Given the description of an element on the screen output the (x, y) to click on. 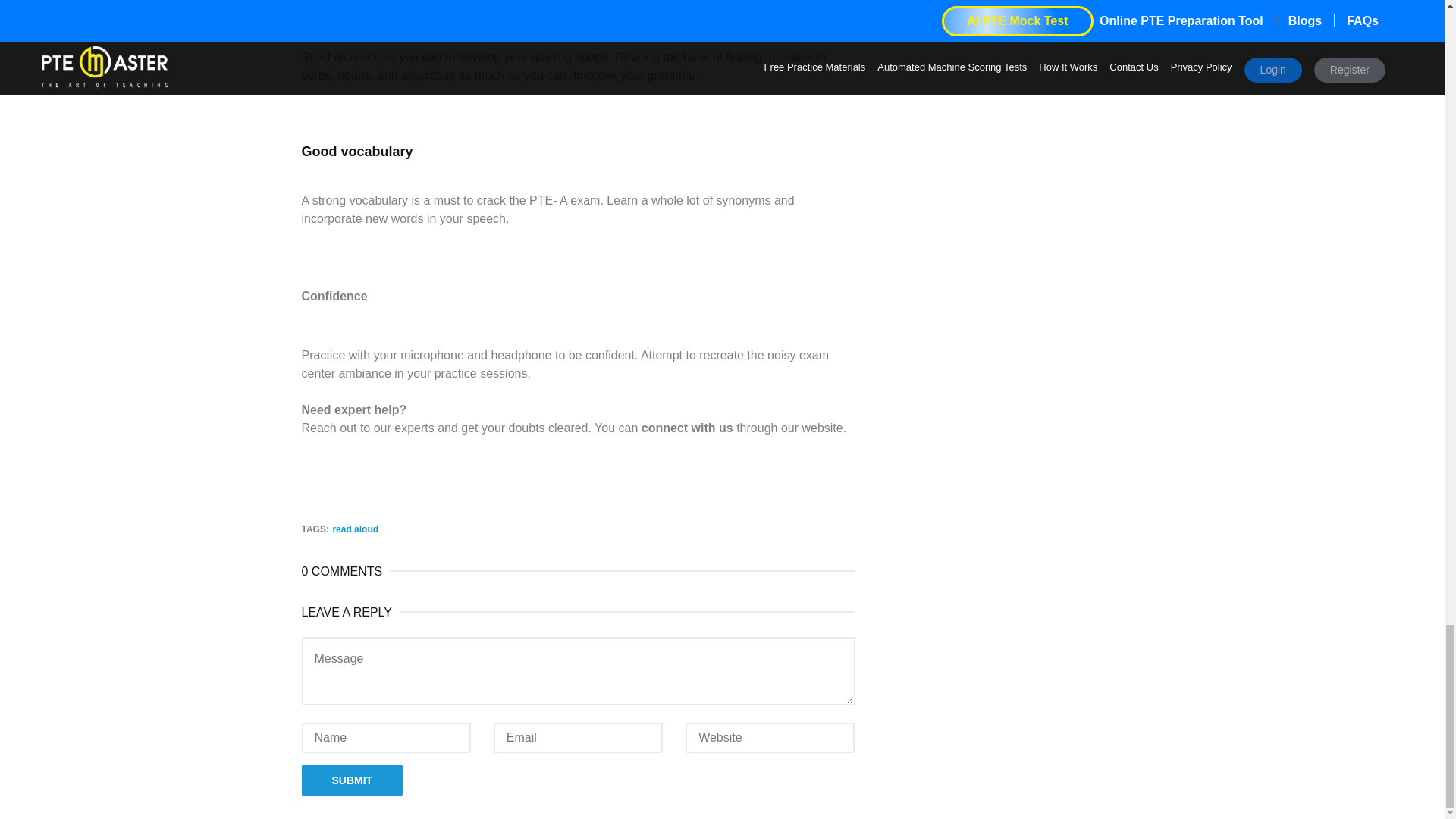
connect with us (687, 427)
Reading (325, 15)
SUBMIT (352, 780)
read aloud (354, 529)
